Given the description of an element on the screen output the (x, y) to click on. 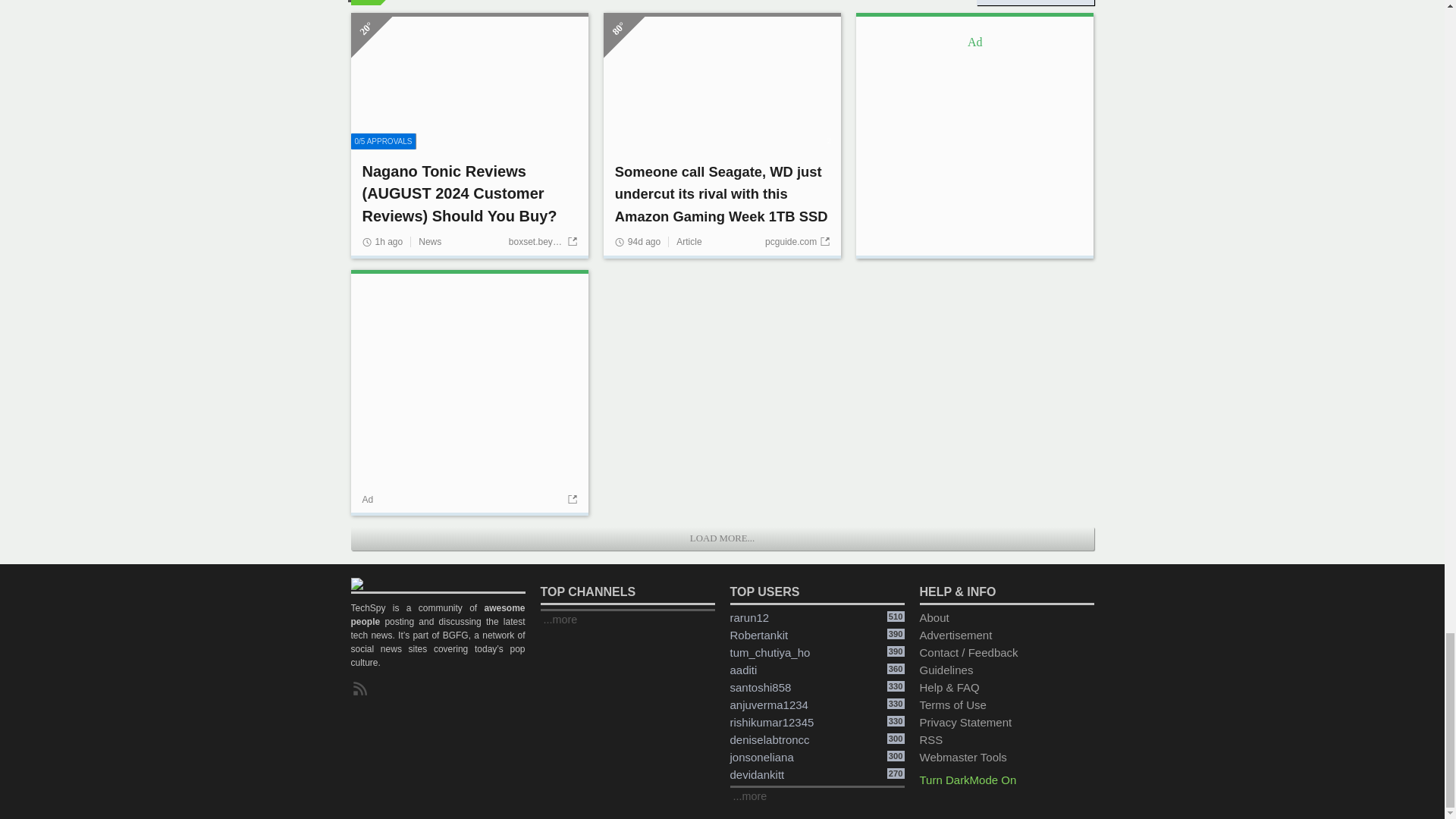
Go to source: pcguide.com (797, 241)
Go to source: boxset.beyonce.com (542, 241)
RSS Feed (362, 689)
Go to source (570, 499)
